Given the description of an element on the screen output the (x, y) to click on. 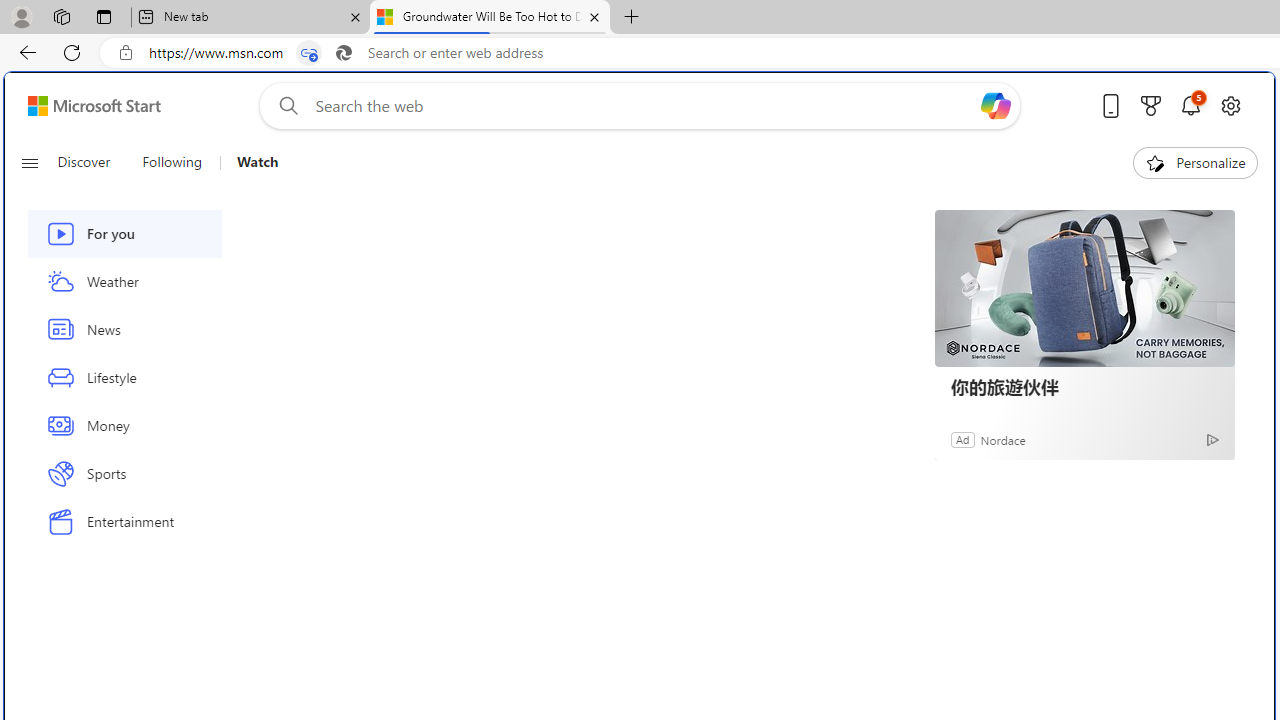
Personalize (1195, 162)
View site information (125, 53)
Following (173, 162)
Open settings (1230, 105)
Personal Profile (21, 16)
Open navigation menu (29, 162)
Watch (249, 162)
Back (24, 52)
